Given the description of an element on the screen output the (x, y) to click on. 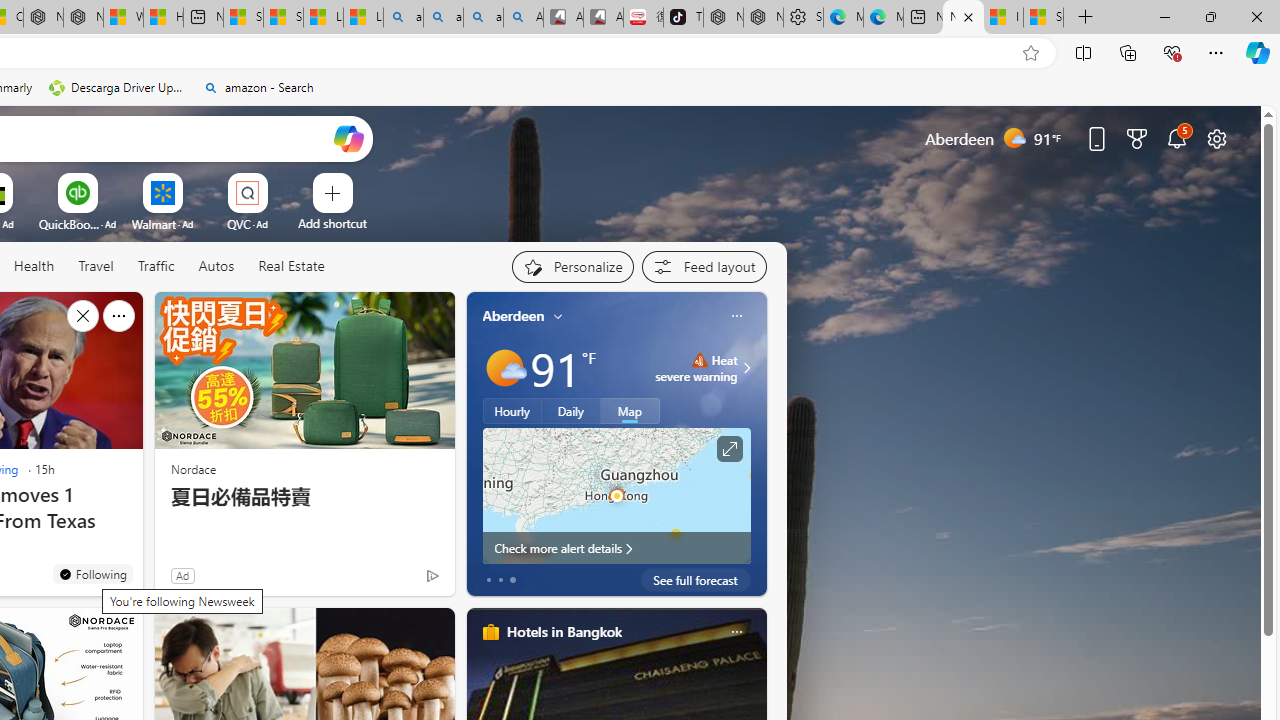
Mostly sunny (504, 368)
Traffic (155, 265)
Click to see more information (728, 449)
Aberdeen (513, 315)
amazon - Search (258, 88)
Travel (95, 265)
I Gained 20 Pounds of Muscle in 30 Days! | Watch (1003, 17)
Real Estate (291, 265)
amazon - Search Images (483, 17)
Descarga Driver Updater (118, 88)
